Given the description of an element on the screen output the (x, y) to click on. 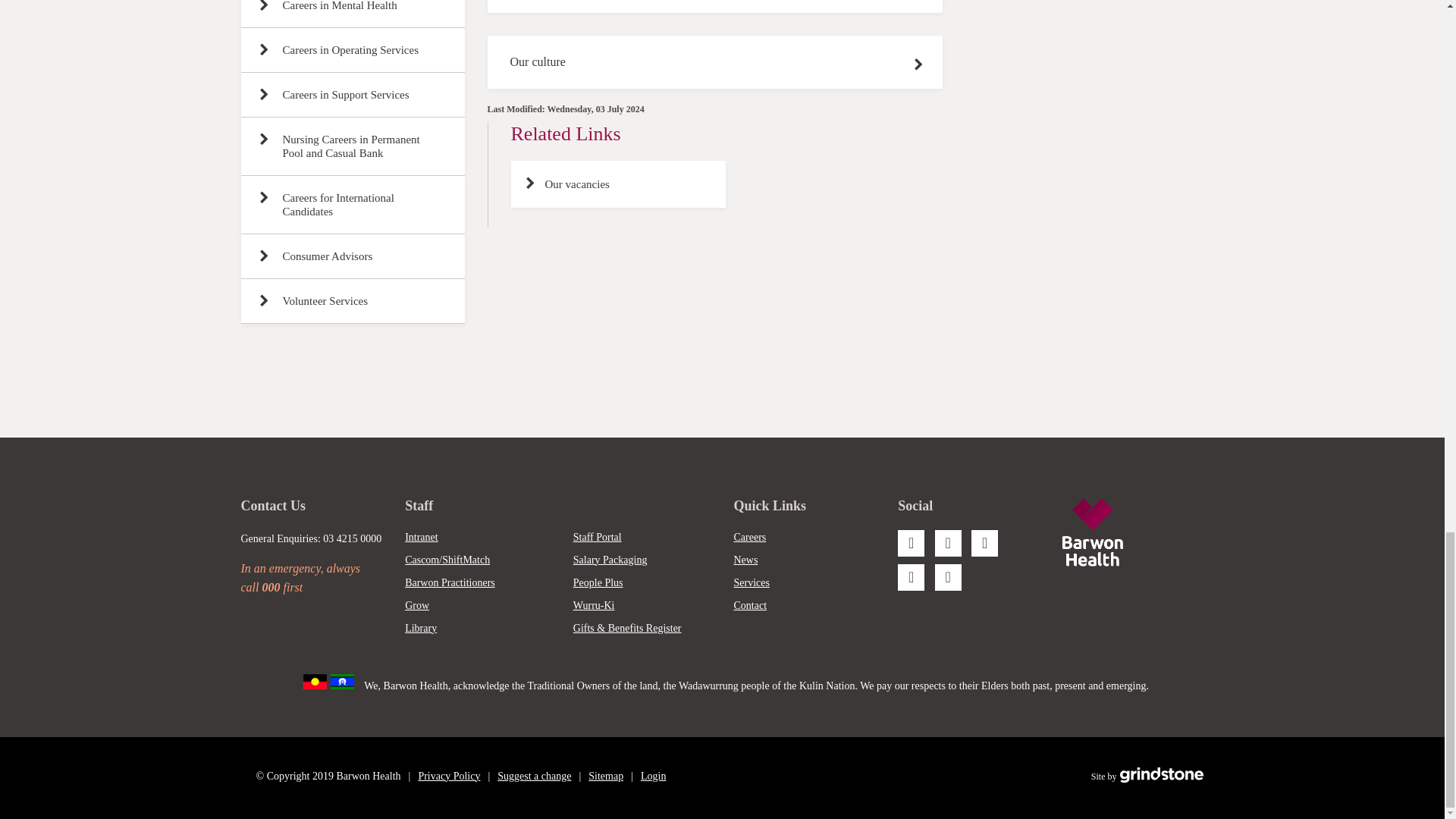
Grindstone Creative (1161, 776)
